Given the description of an element on the screen output the (x, y) to click on. 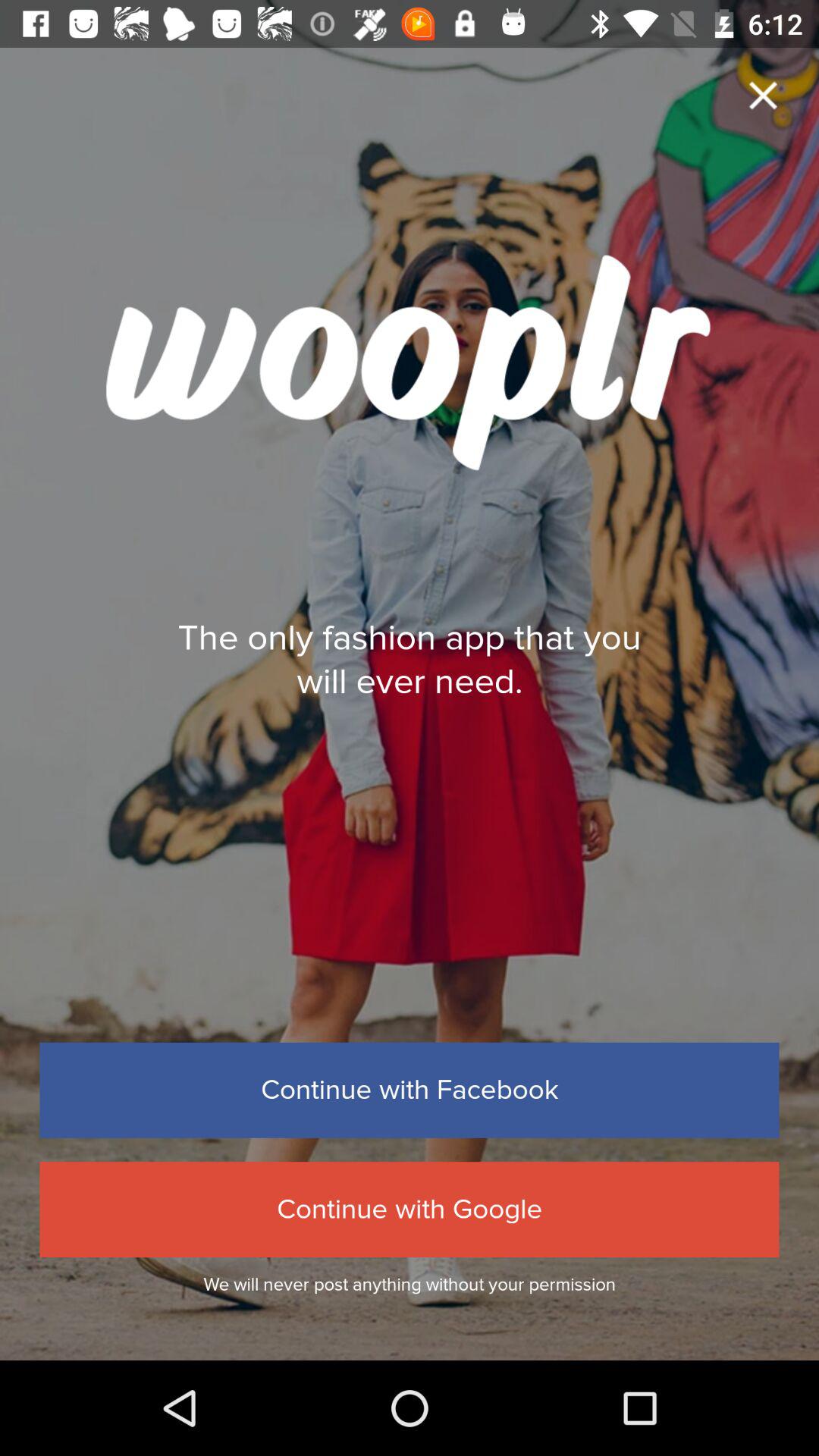
close (763, 95)
